Given the description of an element on the screen output the (x, y) to click on. 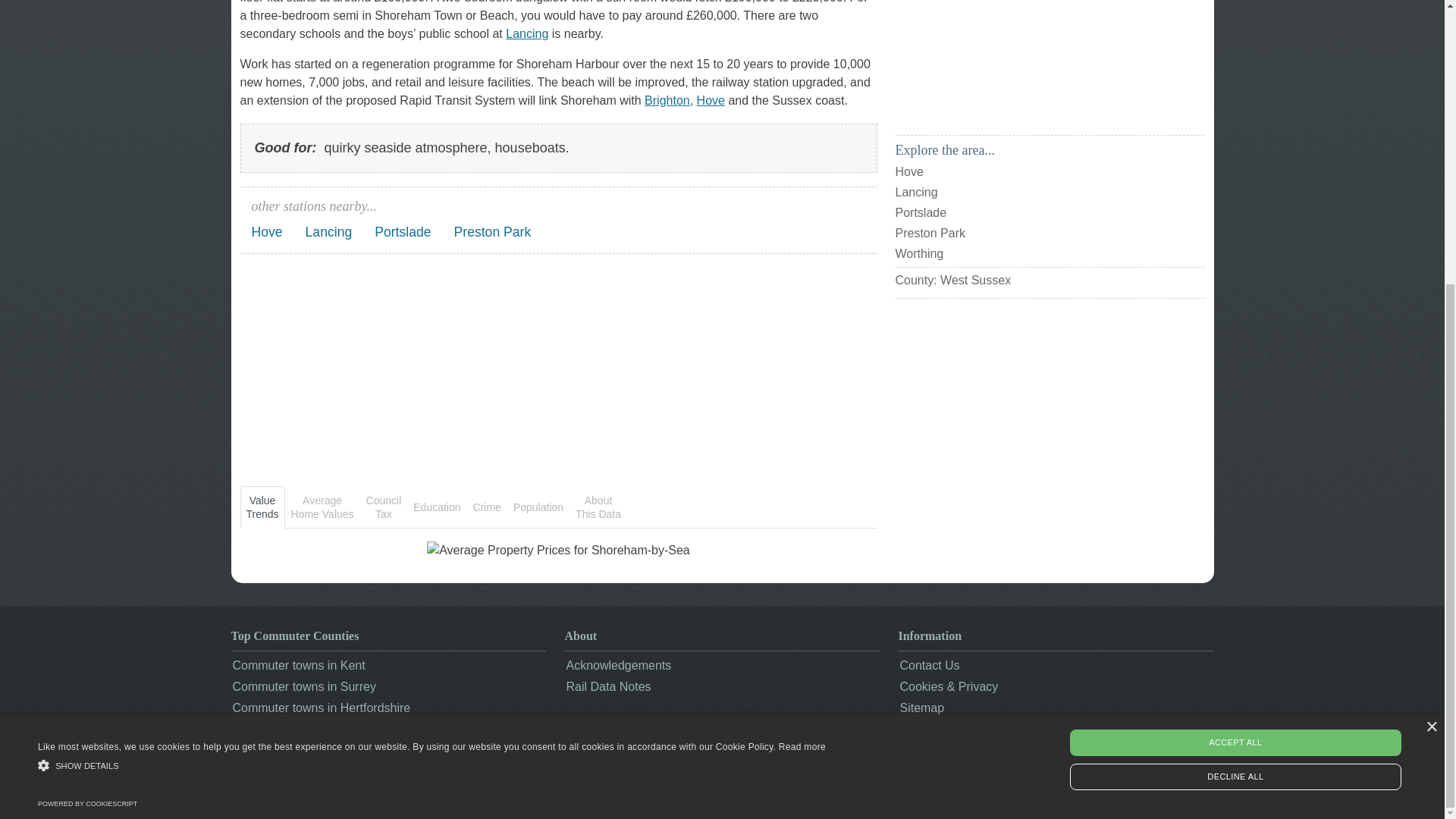
Hove, East Sussex (711, 100)
Portslade (402, 231)
Lancing (328, 231)
Lancing, West Sussex (526, 33)
Hove (266, 231)
Preston Park (492, 231)
Brighton, East Sussex (667, 100)
